Given the description of an element on the screen output the (x, y) to click on. 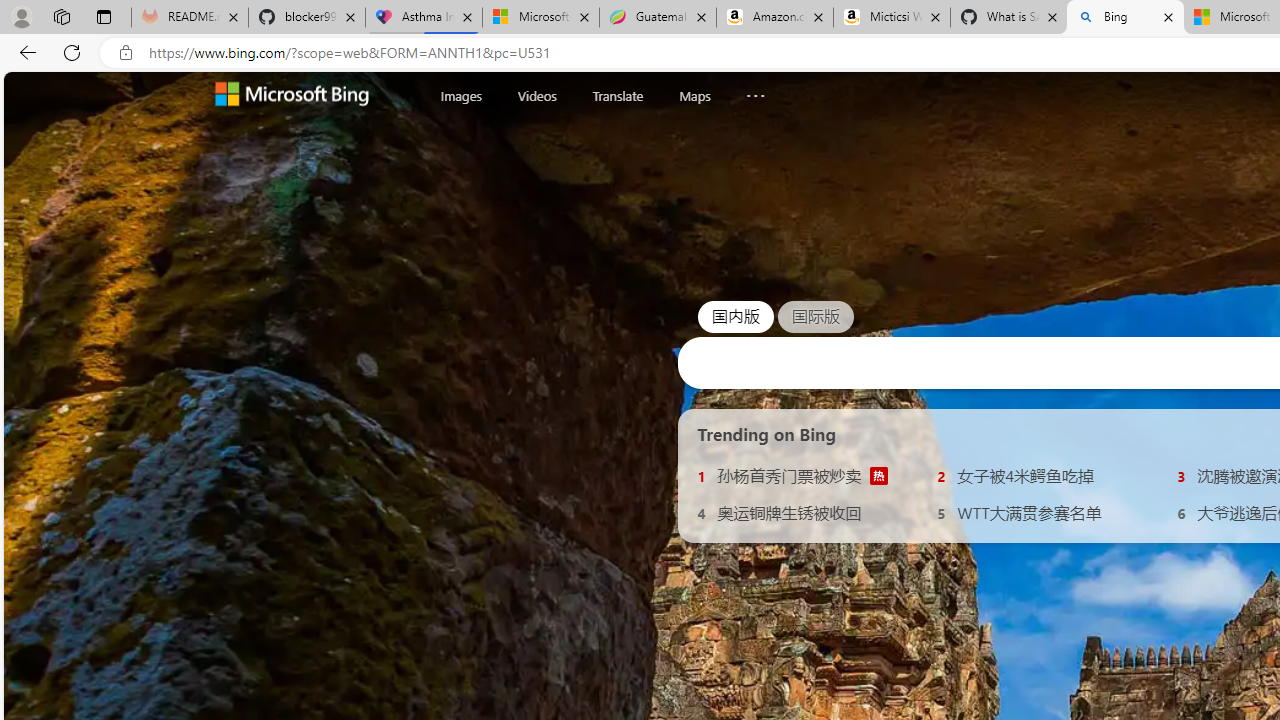
Trending on Bing (767, 434)
Translate (617, 95)
Videos (536, 95)
Maps (694, 95)
Welcome to Bing Search (291, 96)
